Given the description of an element on the screen output the (x, y) to click on. 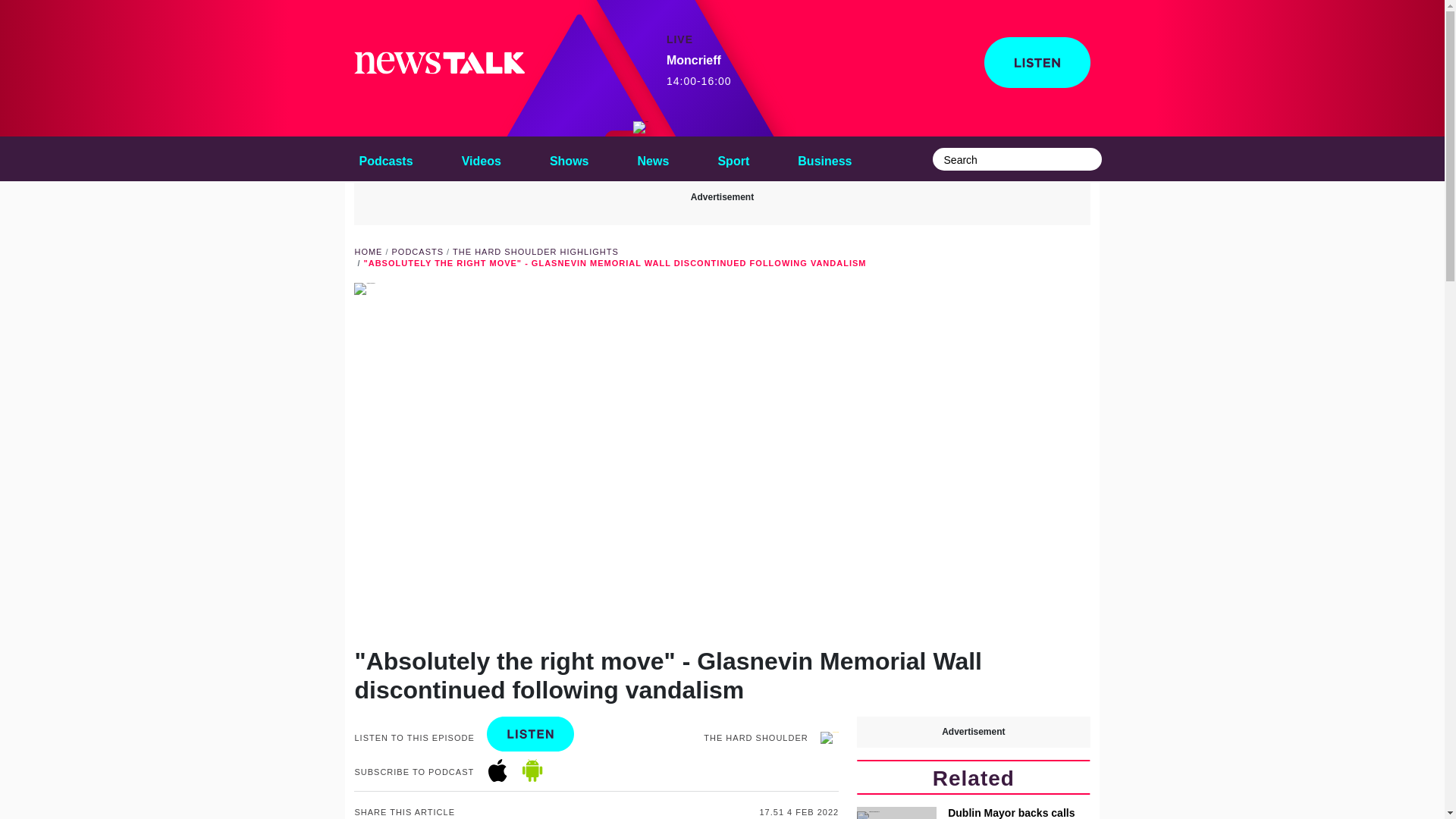
Sport (733, 158)
News (653, 158)
Sport (699, 70)
Shows (733, 158)
Moncrieff (569, 158)
PODCASTS (640, 127)
Podcasts (417, 251)
Videos (384, 158)
Business (481, 158)
